Given the description of an element on the screen output the (x, y) to click on. 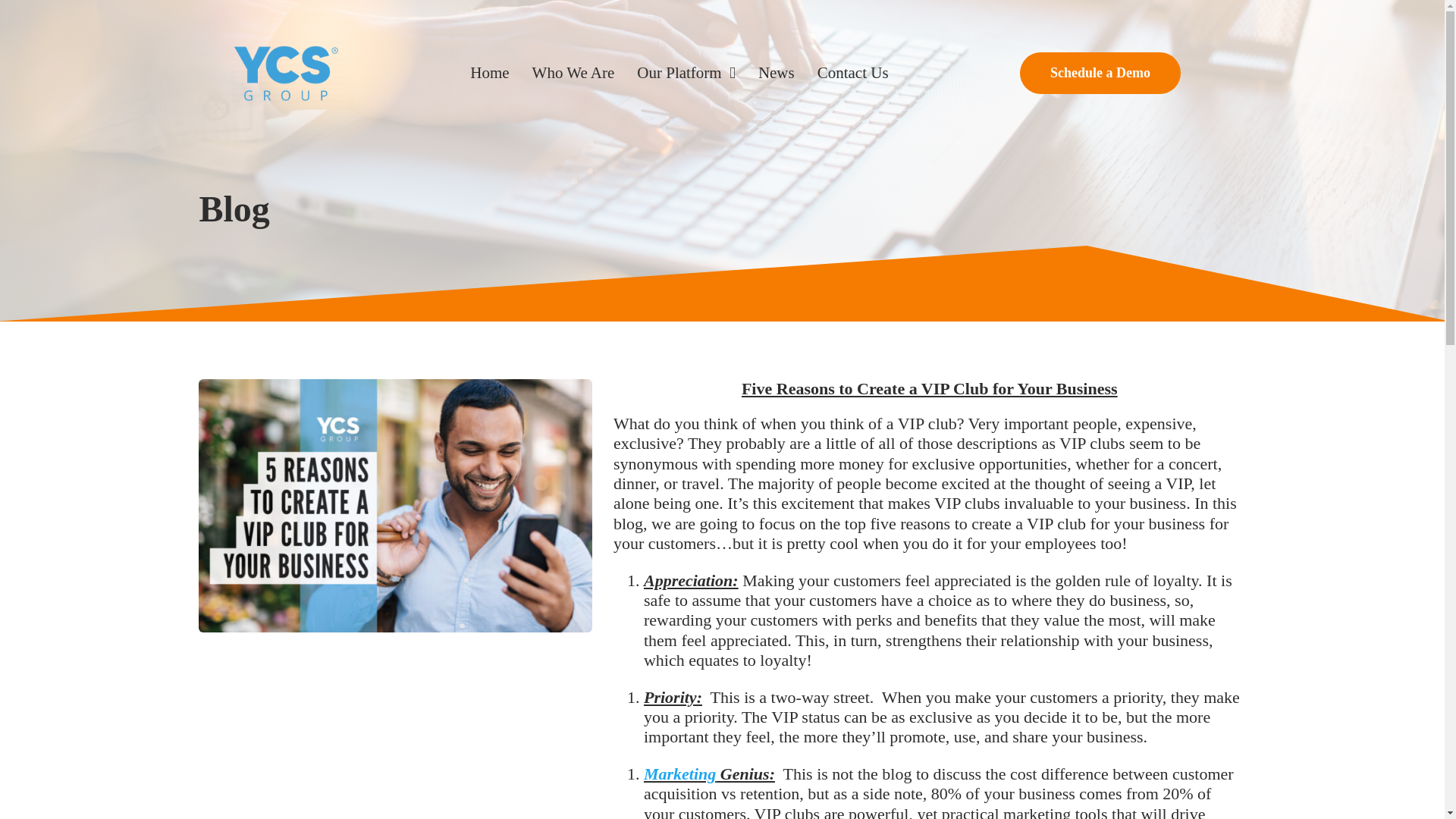
News (776, 72)
Contact Us (852, 72)
Our Platform (686, 72)
Home (489, 72)
Who We Are (573, 72)
Schedule a Demo (1100, 73)
Marketing (679, 773)
5 reasons to create a VIP club for your business 52022 (395, 506)
